Given the description of an element on the screen output the (x, y) to click on. 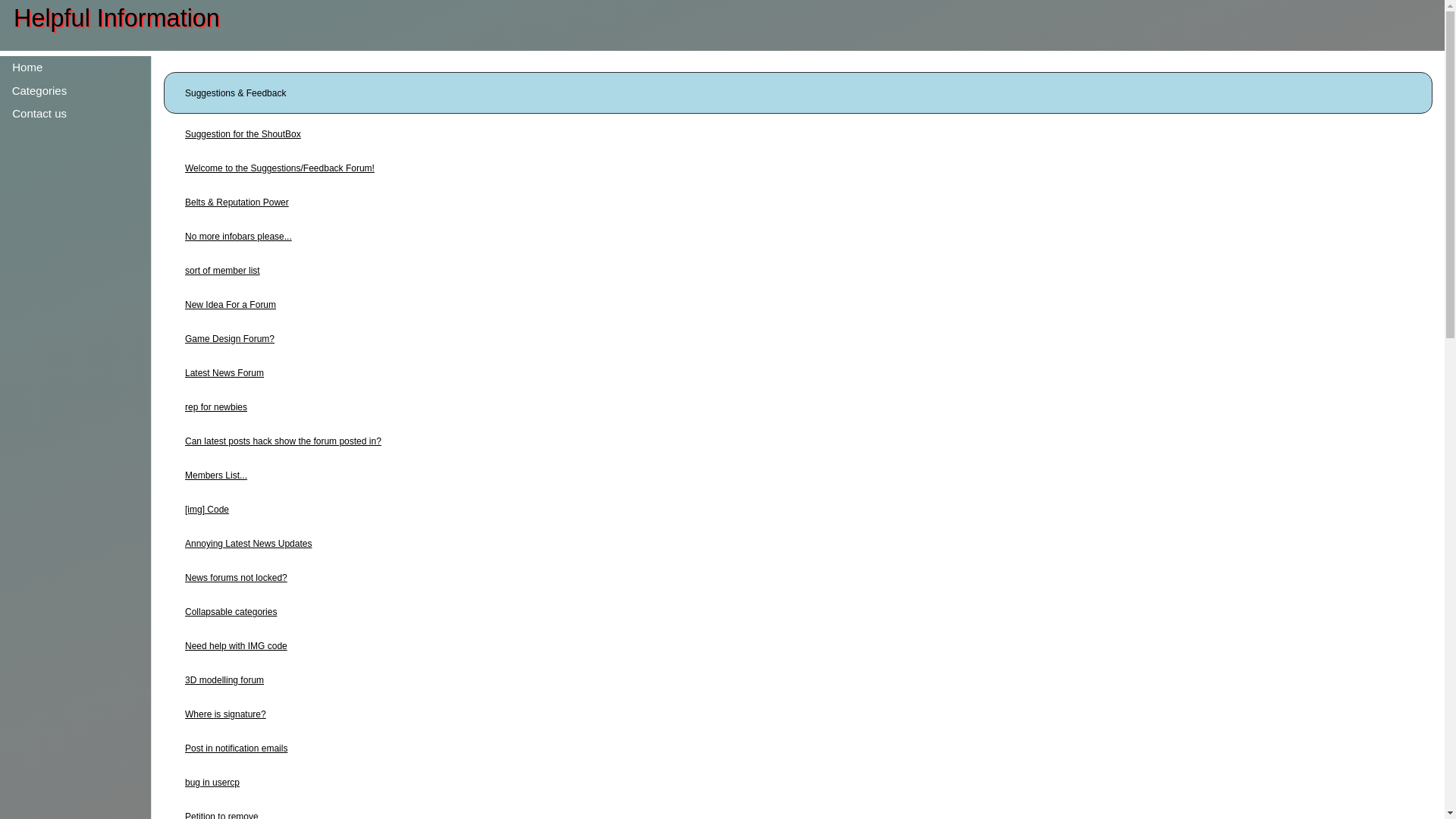
Need-help-with-IMG-code (235, 645)
Post in notification emails (235, 747)
Game-Design-Forum? (229, 338)
Collapsable-categories (230, 611)
Where is signature? (225, 714)
Game Design Forum? (229, 338)
3D-modelling-forum (223, 679)
New-Idea-For-a-Forum (230, 304)
Need help with IMG code (235, 645)
Petition to remove (221, 815)
Contact us (57, 114)
Can latest posts hack show the forum posted in? (282, 440)
Categories (42, 90)
Home (27, 67)
Annoying-Latest-News-Updates (247, 543)
